Given the description of an element on the screen output the (x, y) to click on. 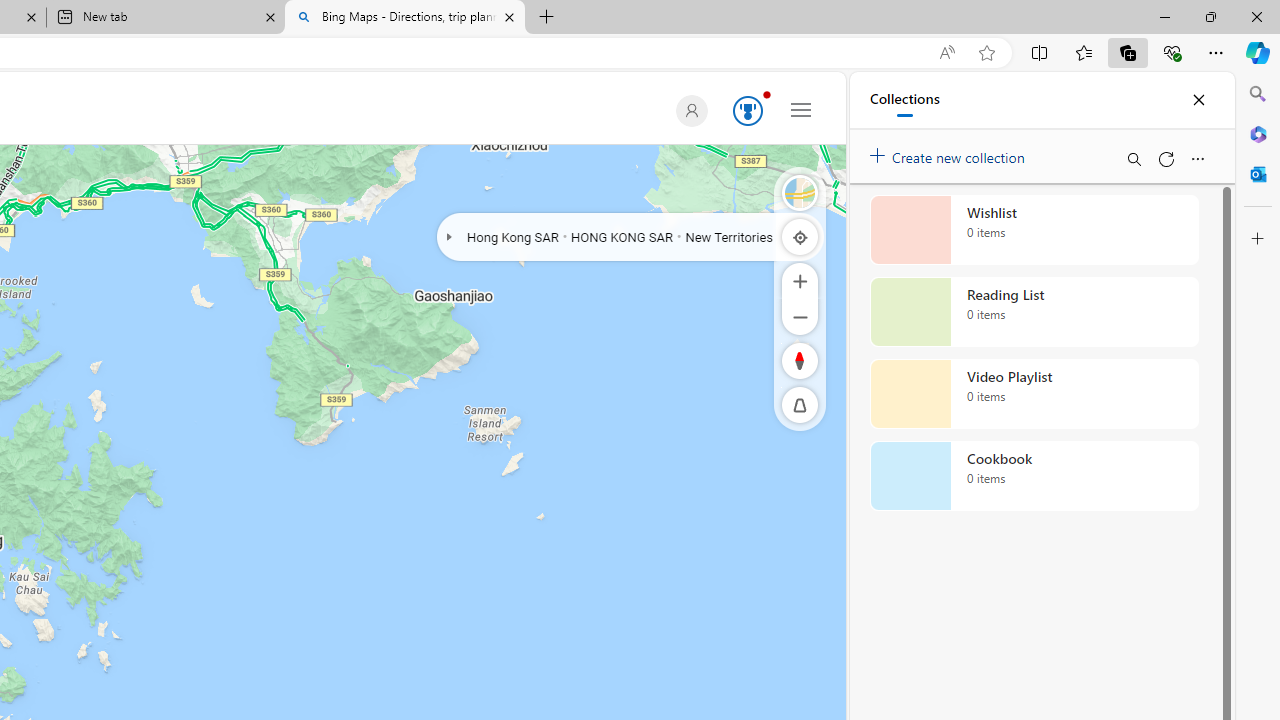
Rotate Right (780, 360)
Expand/Collapse Geochain (448, 236)
